Given the description of an element on the screen output the (x, y) to click on. 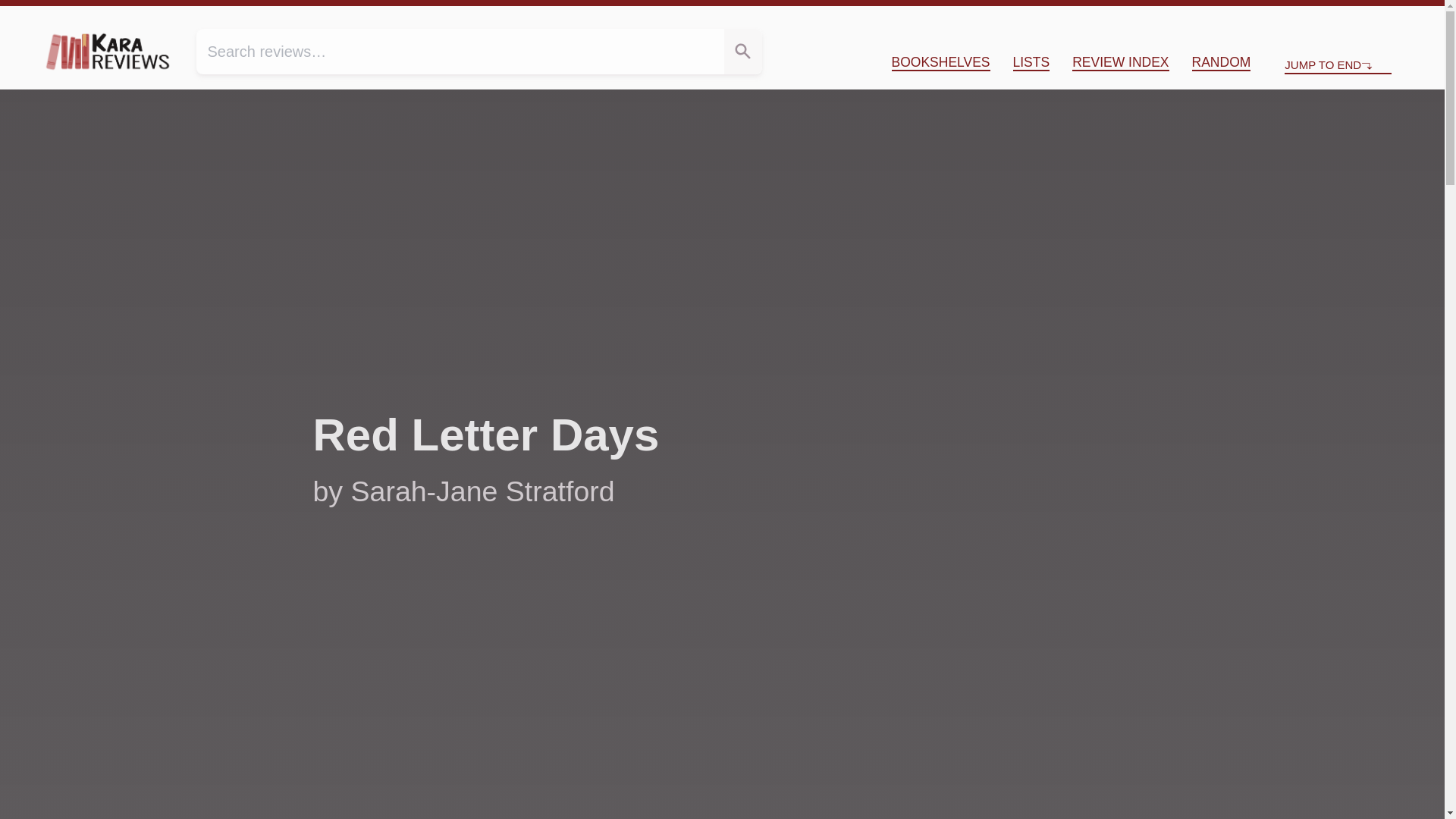
Series, Top 10 lists, and more! (1031, 62)
End (1393, 18)
Jump to footer (1393, 18)
Jump to top of page (1317, 18)
LISTS (1031, 62)
BOOKSHELVES (940, 62)
Reviews organized by categories (940, 62)
Are you feeling lucky? (1221, 62)
REVIEW INDEX (1120, 62)
RANDOM (1221, 62)
Start (1317, 18)
All my reviews, grouped by year and month (1120, 62)
JUMP TO END (1337, 65)
